Given the description of an element on the screen output the (x, y) to click on. 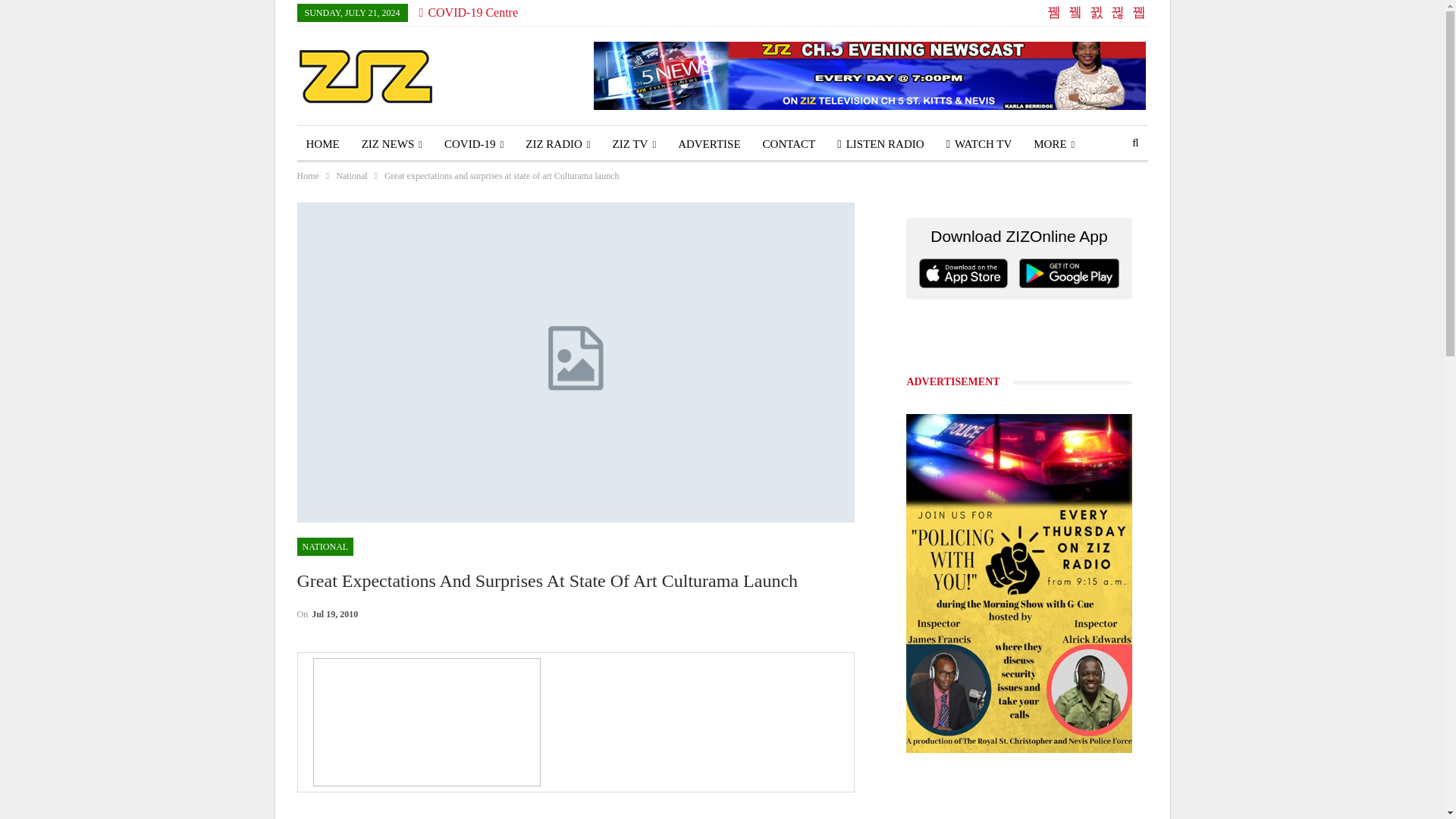
COVID-19 (473, 144)
ZIZ NEWS (391, 144)
ZIZ RADIO (557, 144)
COVID-19 Centre (468, 11)
HOME (323, 144)
